Given the description of an element on the screen output the (x, y) to click on. 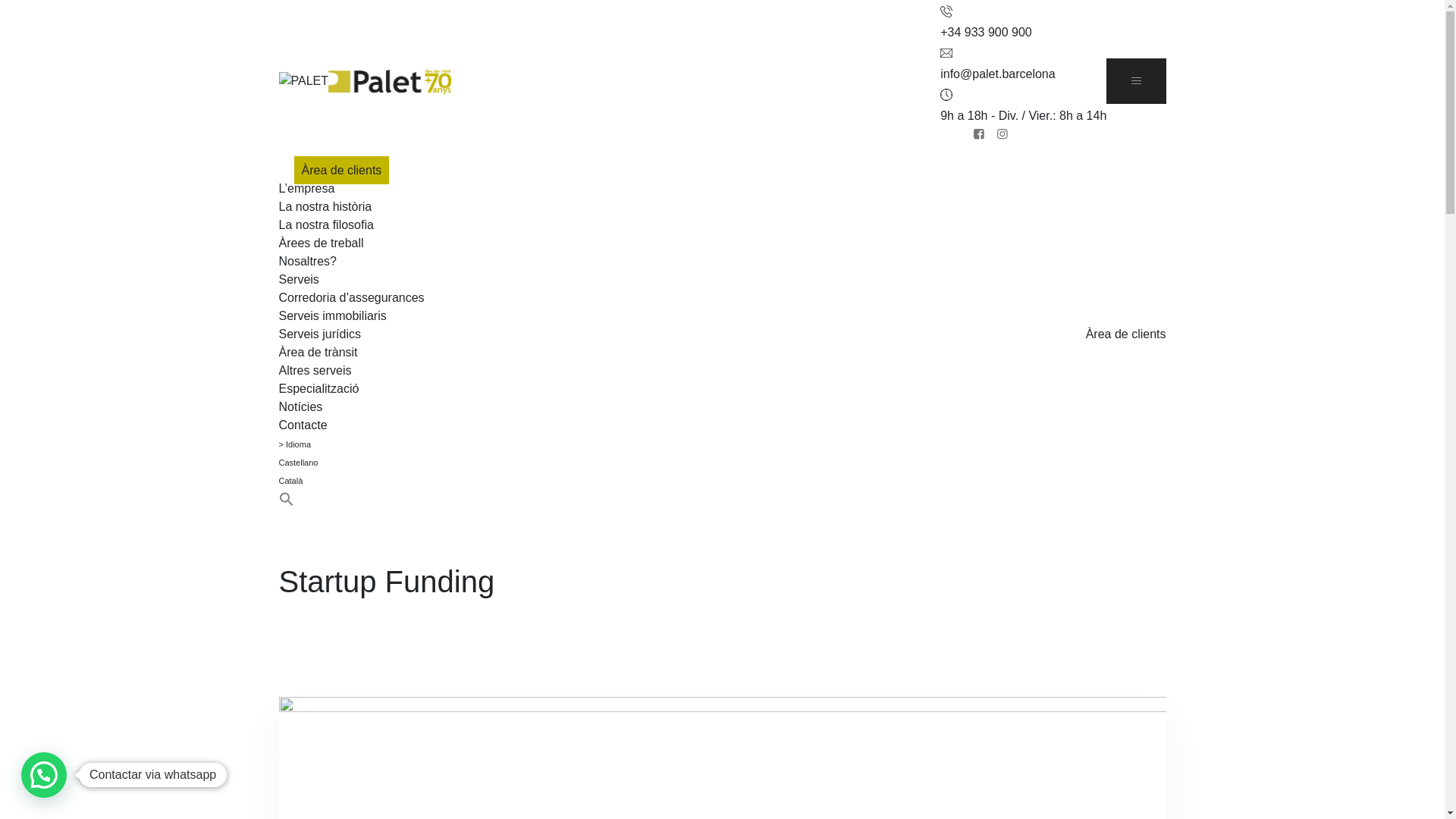
Contacte Element type: text (303, 424)
Serveis immobiliaris Element type: text (332, 315)
PALET Element type: hover (389, 81)
La nostra filosofia Element type: text (326, 224)
> Idioma Element type: text (295, 443)
Nosaltres? Element type: text (307, 260)
Serveis Element type: text (299, 279)
Castellano Element type: text (298, 462)
Altres serveis Element type: text (315, 370)
PALET Element type: hover (304, 80)
